Given the description of an element on the screen output the (x, y) to click on. 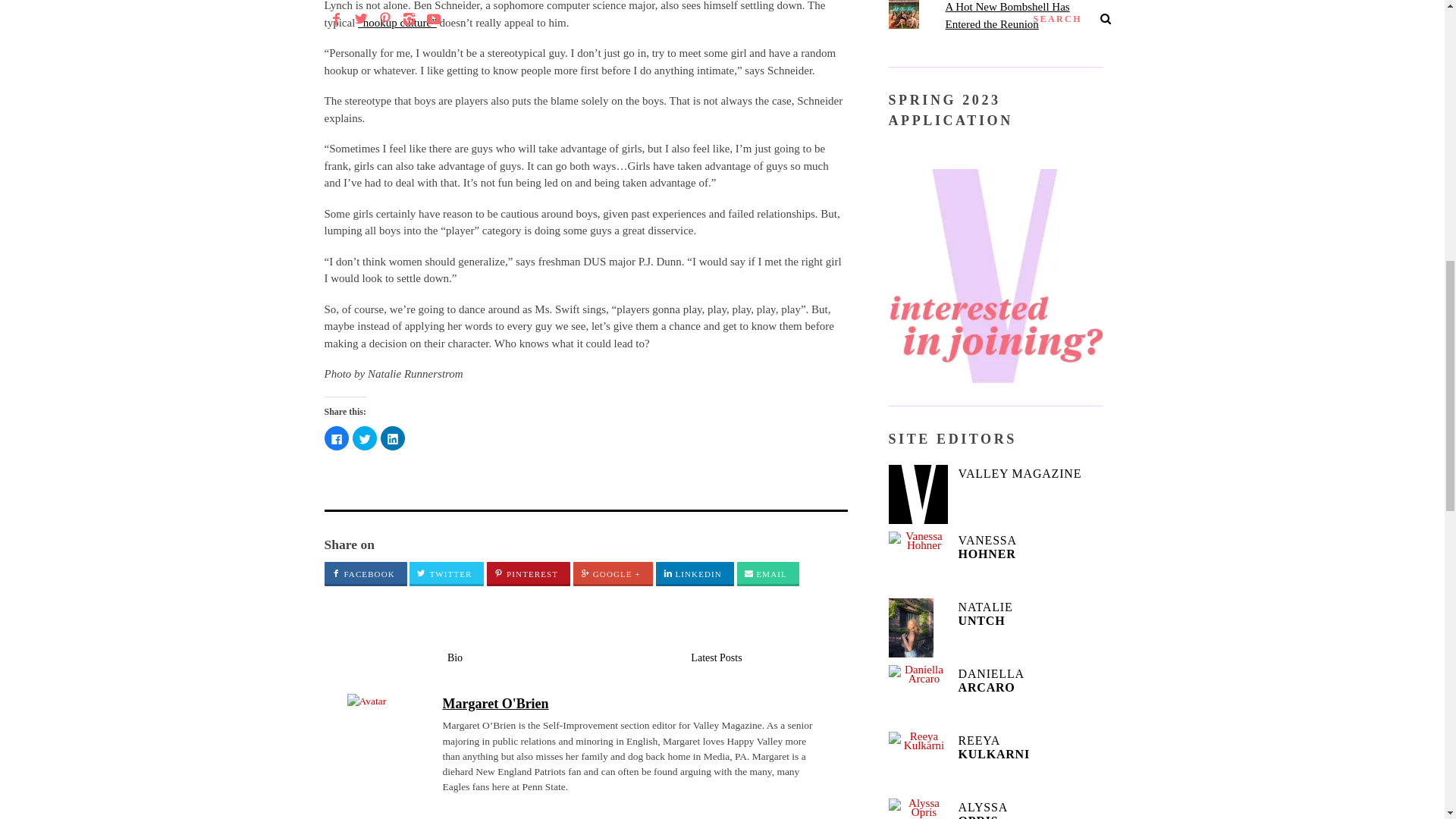
Click to share on Twitter (363, 437)
Daniella Arcaro (917, 694)
VALLEY Magazine (917, 494)
Natalie Untch (917, 627)
A Hot New Bombshell Has Entered the Reunion (1006, 15)
Click to share on LinkedIn (392, 437)
Alyssa Opris (917, 808)
Reeya Kulkarni (917, 761)
Click to share on Facebook (336, 437)
Vanessa Hohner (917, 560)
